Given the description of an element on the screen output the (x, y) to click on. 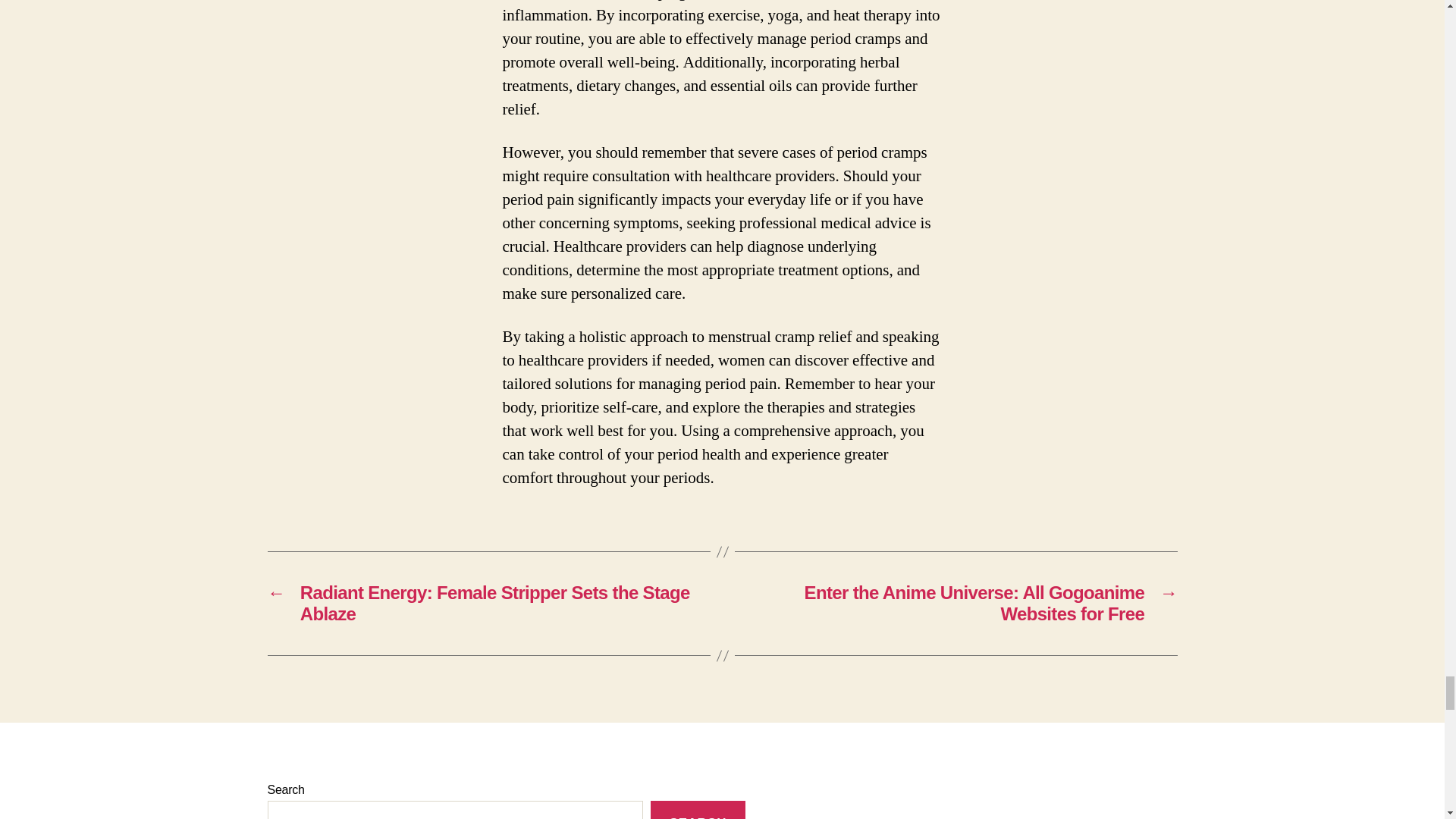
SEARCH (697, 809)
